Given the description of an element on the screen output the (x, y) to click on. 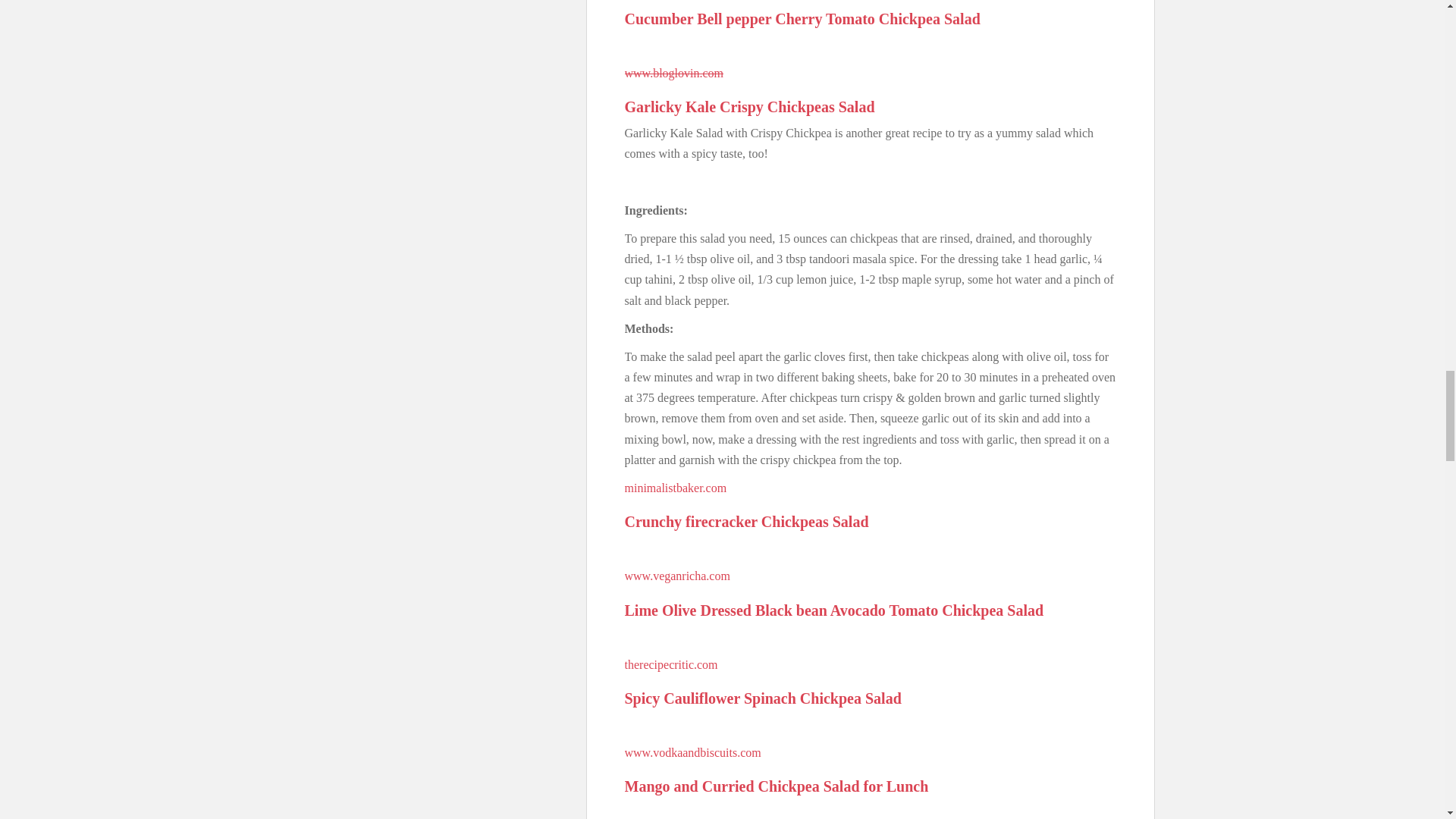
minimalistbaker.com (675, 487)
therecipecritic.com (670, 664)
Lunch (907, 786)
www.vodkaandbiscuits.com (692, 752)
Spicy (642, 698)
www.bloglovin.com (673, 72)
Kale (700, 106)
www.veganricha.com (677, 575)
